Given the description of an element on the screen output the (x, y) to click on. 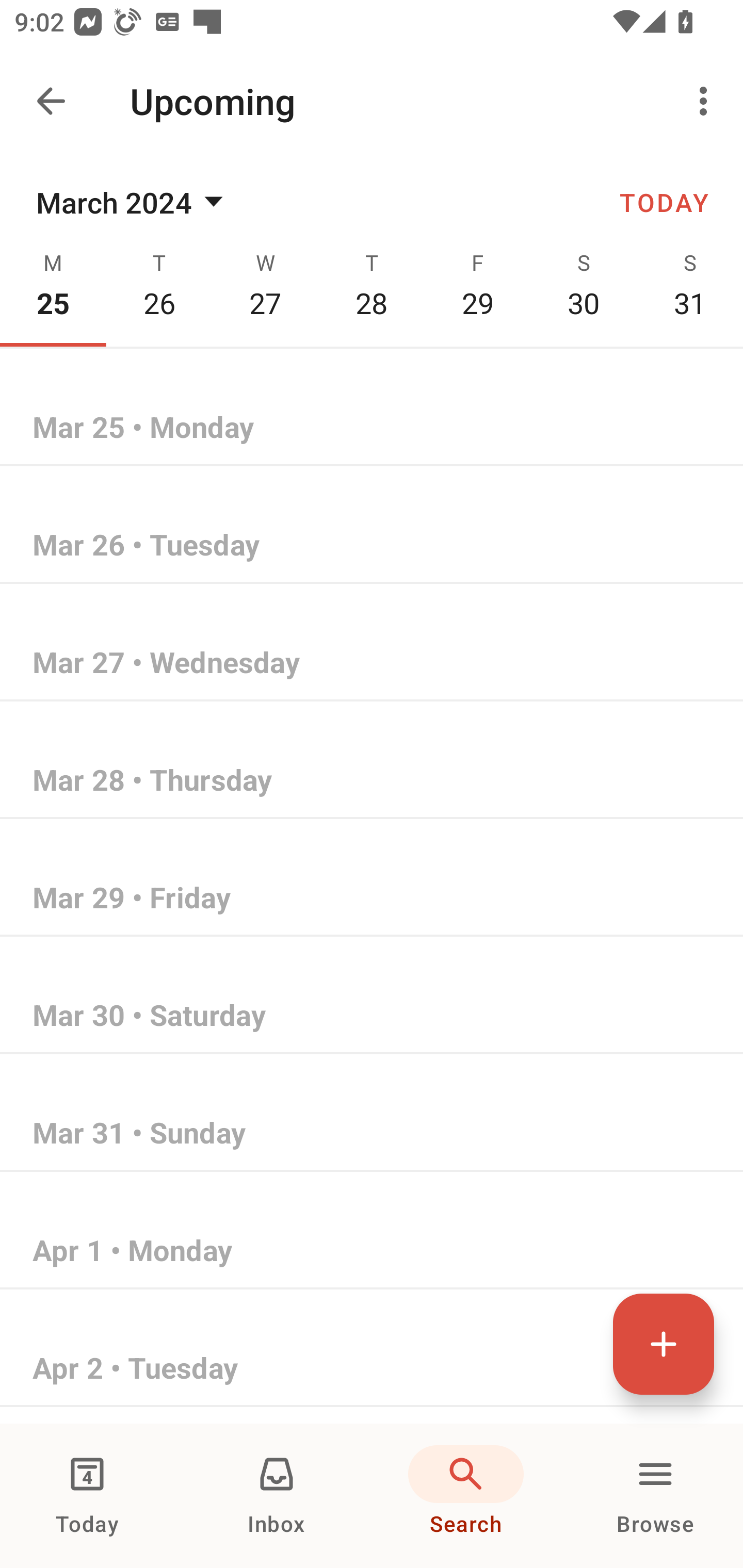
Navigate up Upcoming More options (371, 100)
Navigate up (50, 101)
More options (706, 101)
March 2024 (133, 202)
TODAY (663, 202)
Mar 24 • Sunday (371, 310)
Mar 25 • Monday (371, 428)
Mar 26 • Tuesday (371, 545)
Mar 27 • Wednesday (371, 663)
Mar 28 • Thursday (371, 780)
Mar 29 • Friday (371, 898)
Mar 30 • Saturday (371, 1016)
Mar 31 • Sunday (371, 1133)
Apr 1 • Monday (371, 1251)
Quick add (663, 1343)
Apr 2 • Tuesday (371, 1368)
Today (87, 1495)
Inbox (276, 1495)
Browse (655, 1495)
